Given the description of an element on the screen output the (x, y) to click on. 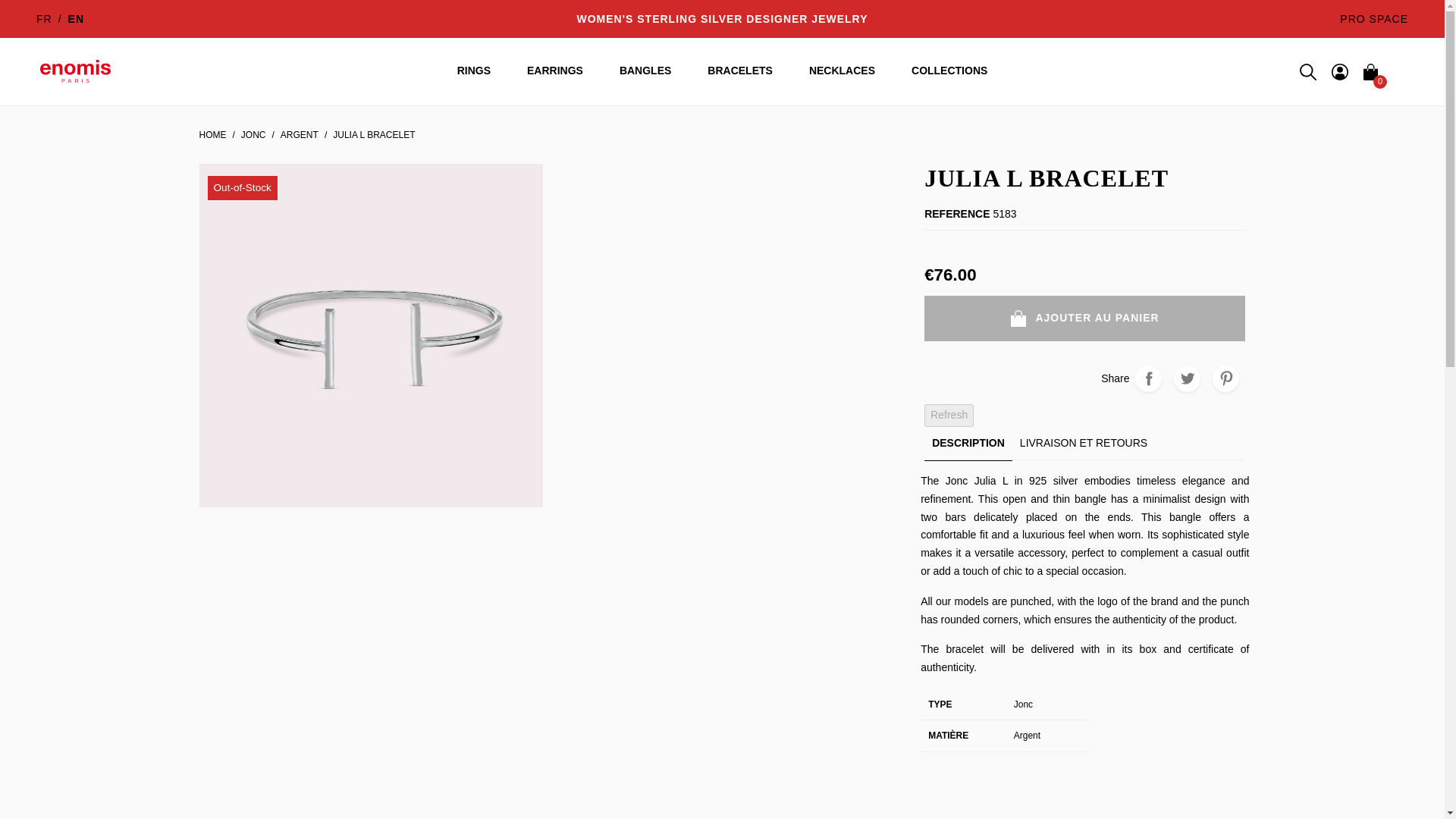
JONC (253, 134)
HOME (211, 134)
BRACELETS (739, 70)
FR (44, 19)
Tweet (1186, 378)
NECKLACES (841, 70)
Pinterest (1225, 378)
BANGLES (644, 70)
COLLECTIONS (949, 70)
EARRINGS (554, 70)
